Given the description of an element on the screen output the (x, y) to click on. 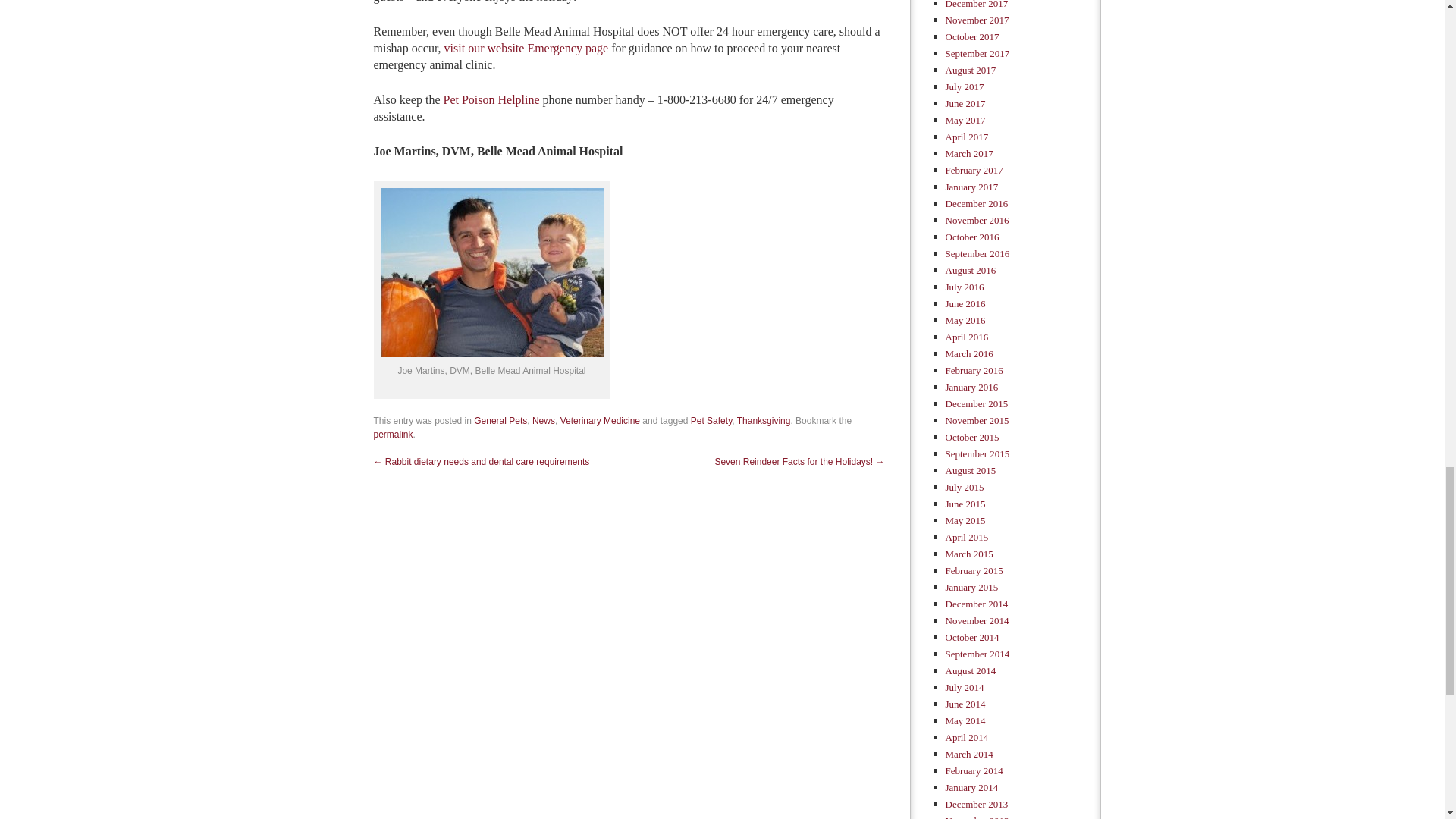
Permalink to Make Thanksgiving Happy For Your Pets, Too! (392, 434)
